Given the description of an element on the screen output the (x, y) to click on. 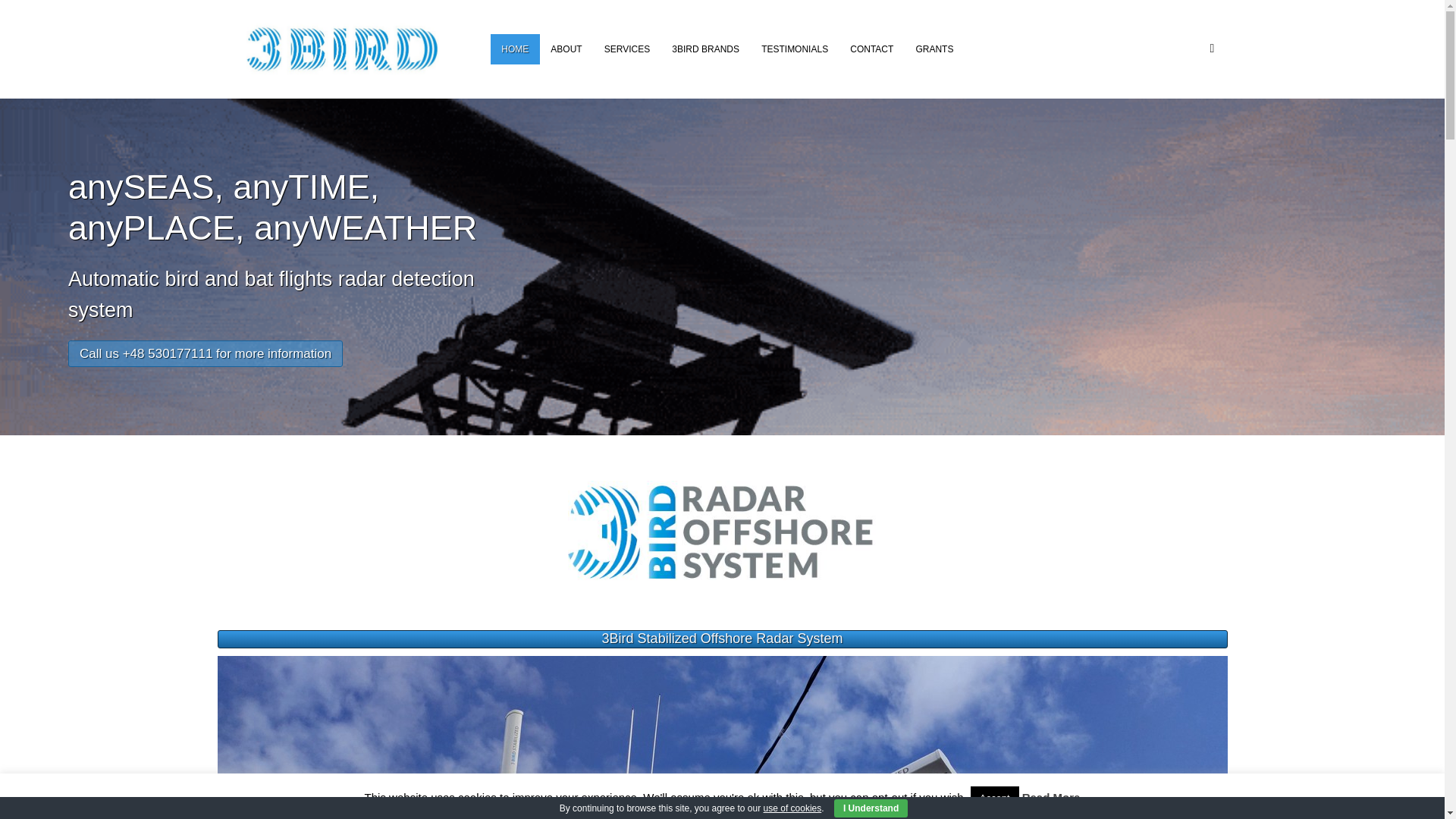
TESTIMONIALS Element type: text (794, 49)
I Understand Element type: text (870, 808)
Call us +48 530177111 for more information Element type: text (205, 353)
3Bird Stabilized Offshore Radar System Element type: text (722, 638)
3BIRD BRANDS Element type: text (705, 49)
CONTACT Element type: text (871, 49)
SERVICES Element type: text (627, 49)
ABOUT Element type: text (566, 49)
Read More Element type: text (1051, 796)
HOME Element type: text (514, 49)
GRANTS Element type: text (934, 49)
use of cookies Element type: text (792, 808)
Accept Element type: text (994, 797)
